Given the description of an element on the screen output the (x, y) to click on. 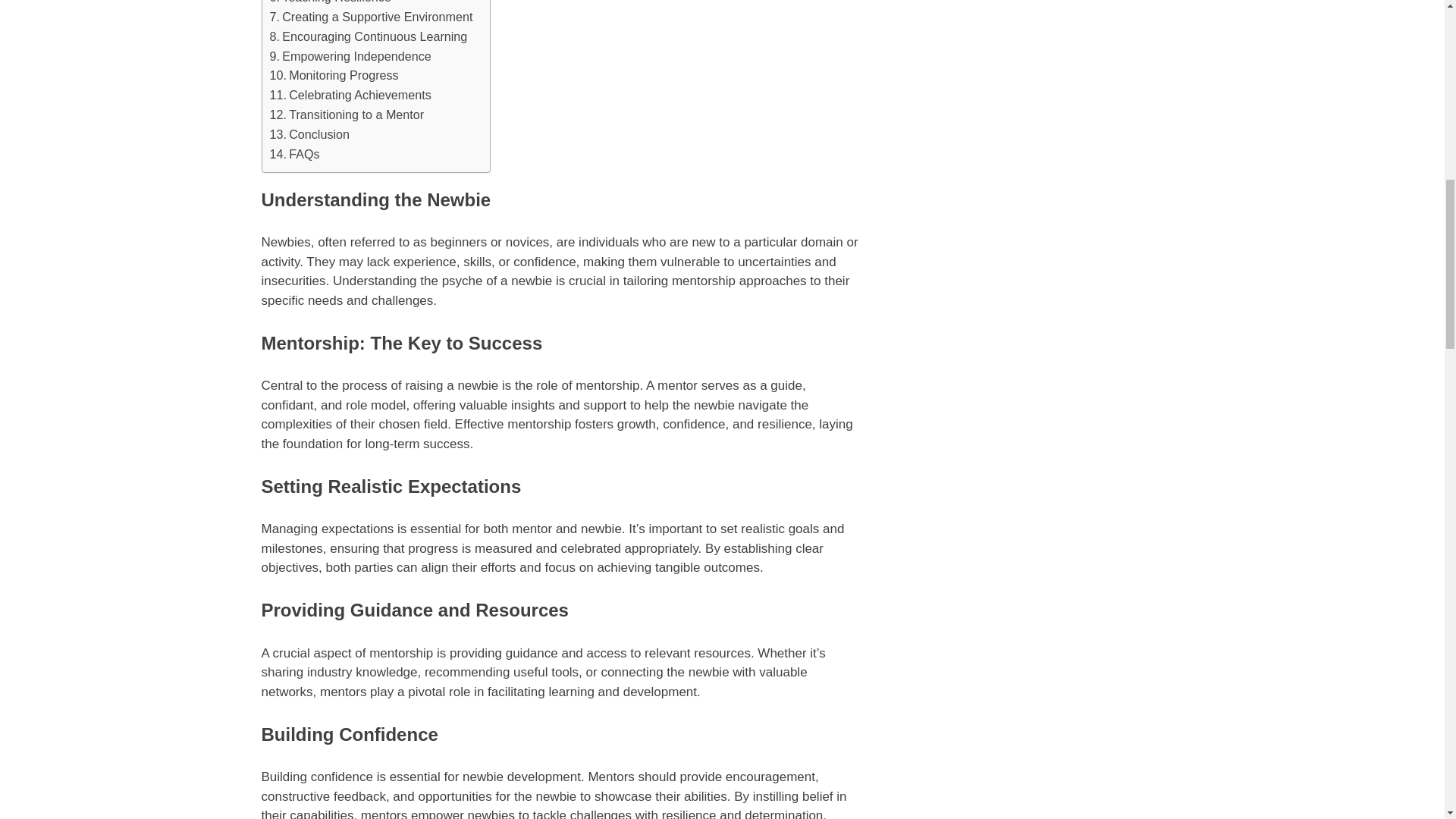
Creating a Supportive Environment (371, 17)
Celebrating Achievements (349, 95)
Conclusion (309, 134)
Celebrating Achievements (349, 95)
Monitoring Progress (333, 75)
Conclusion (309, 134)
Teaching Resilience (330, 3)
Creating a Supportive Environment (371, 17)
Encouraging Continuous Learning (368, 36)
Teaching Resilience (330, 3)
